Given the description of an element on the screen output the (x, y) to click on. 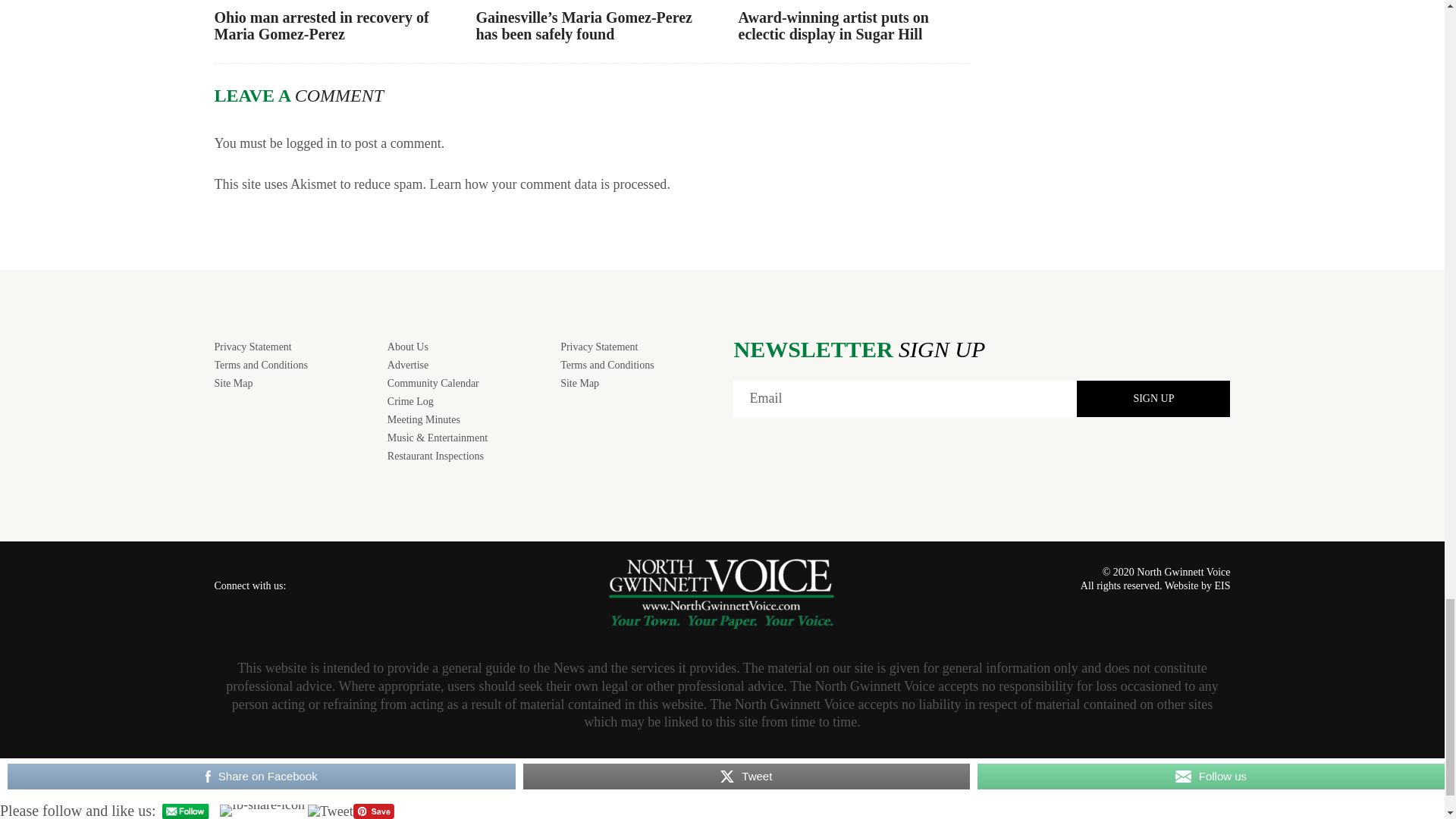
SIGN UP (1153, 398)
